Given the description of an element on the screen output the (x, y) to click on. 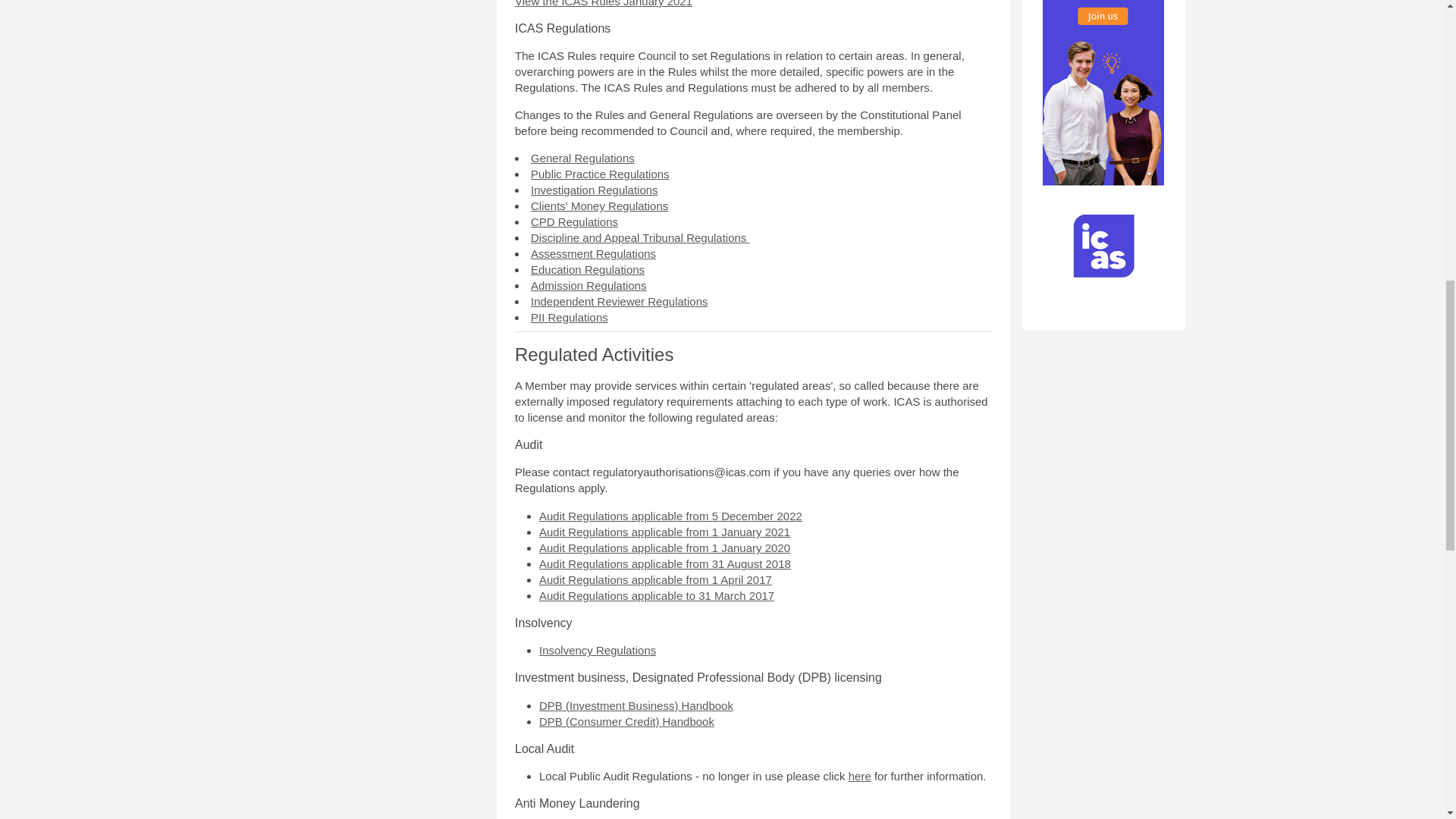
View the latest ICAS Rules (604, 3)
Education Regulations (588, 269)
Admission Regulations (588, 285)
